Given the description of an element on the screen output the (x, y) to click on. 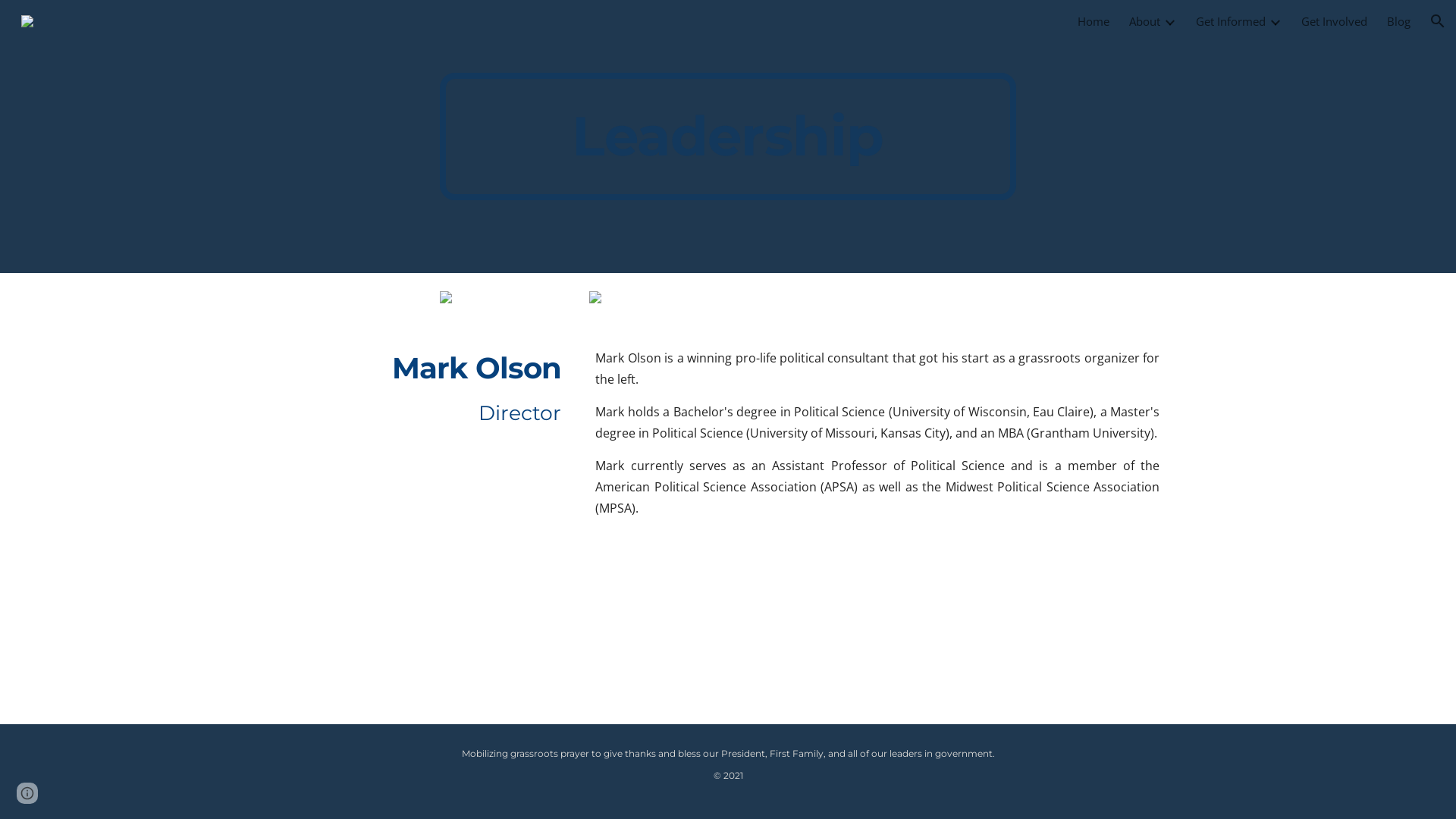
Home Element type: text (1093, 20)
Get Informed Element type: text (1230, 20)
Blog Element type: text (1398, 20)
About Element type: text (1144, 20)
Get Involved Element type: text (1334, 20)
Expand/Collapse Element type: hover (1274, 20)
Expand/Collapse Element type: hover (1169, 20)
